Given the description of an element on the screen output the (x, y) to click on. 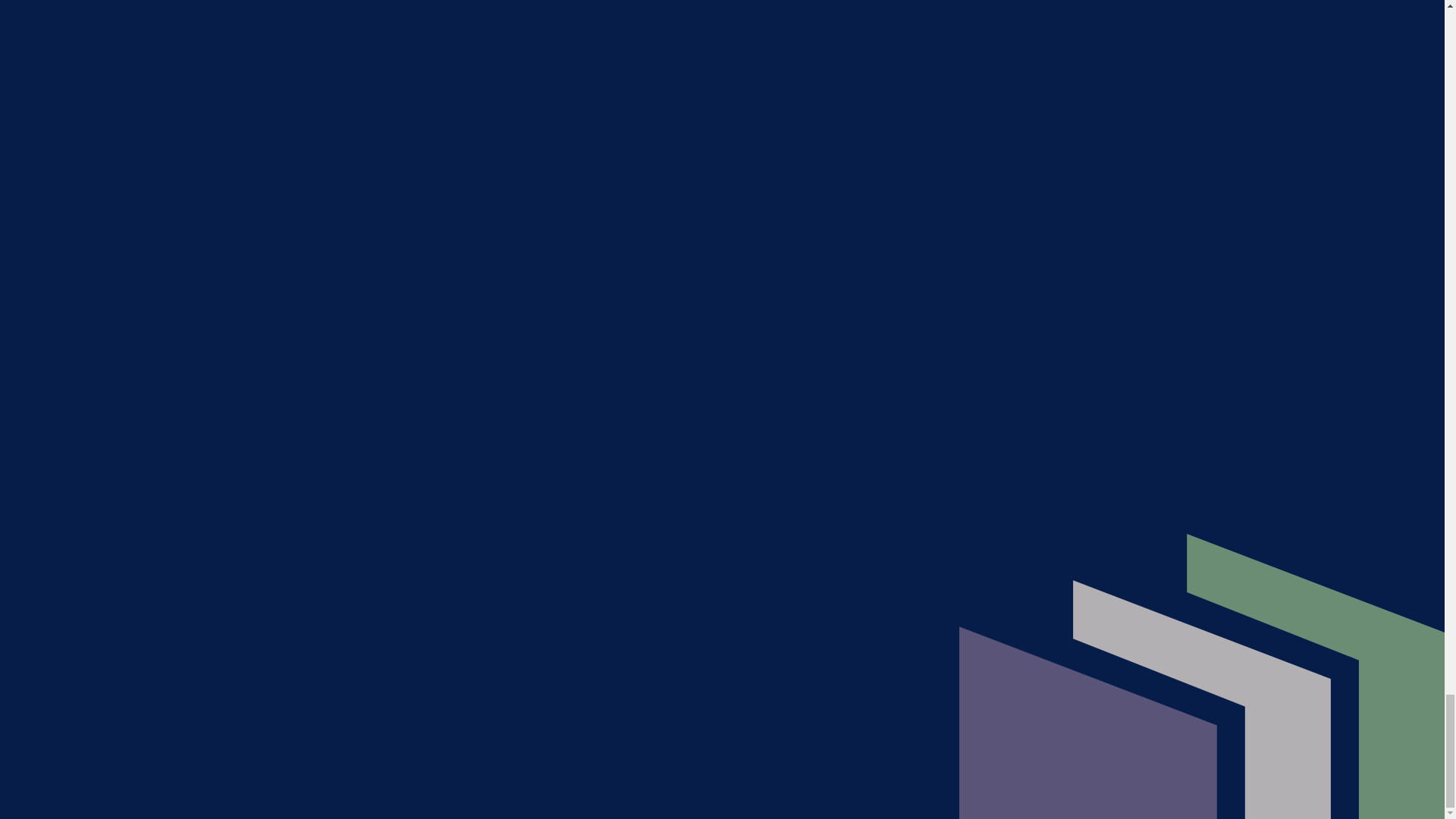
Legal details (849, 809)
Data protection (601, 809)
Legal details (849, 809)
